Given the description of an element on the screen output the (x, y) to click on. 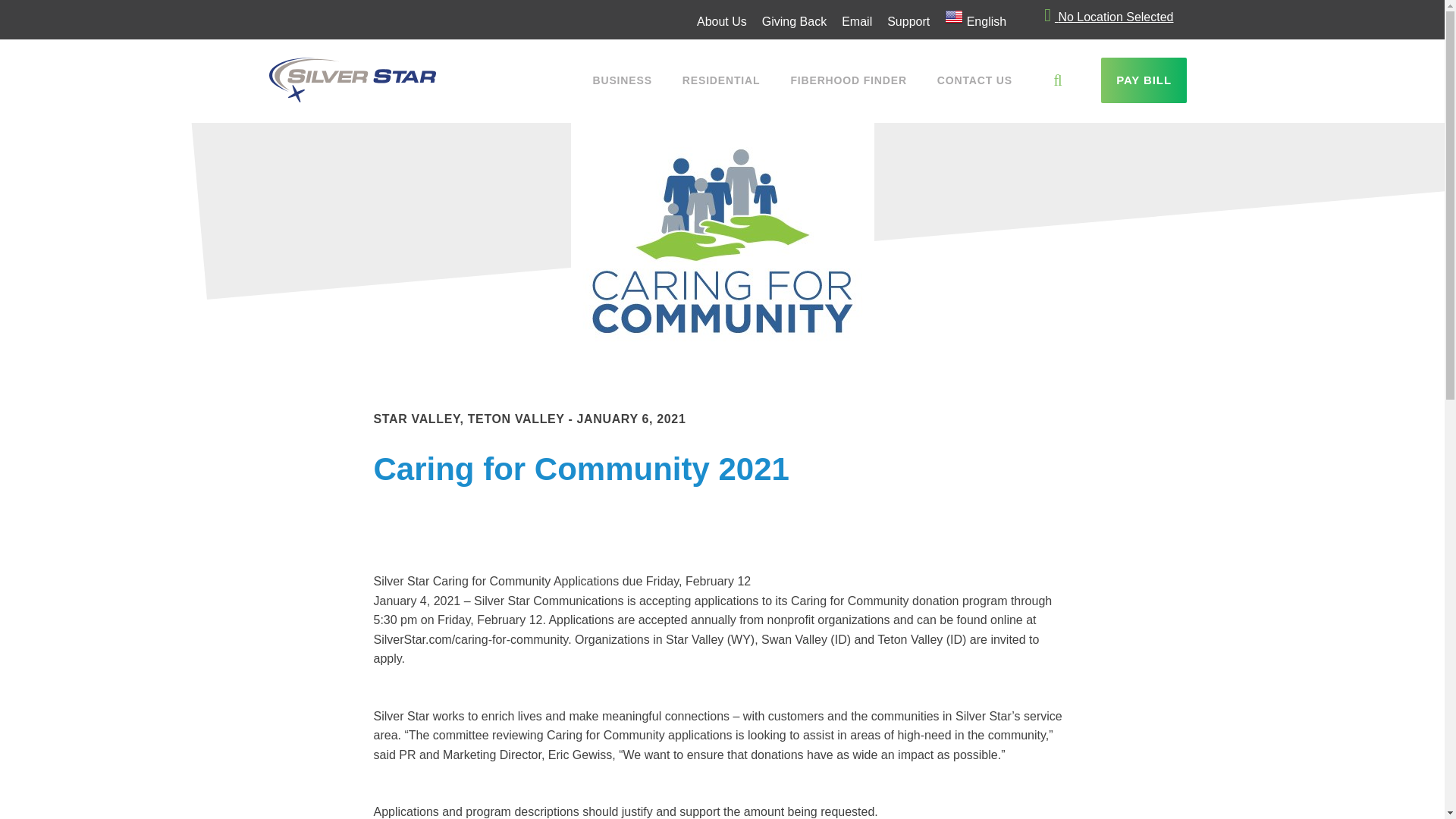
Email (856, 21)
Support (908, 21)
Giving Back (794, 21)
RESIDENTIAL (721, 80)
English (975, 19)
BUSINESS (622, 80)
About Us (721, 21)
No Location Selected (1108, 17)
